Given the description of an element on the screen output the (x, y) to click on. 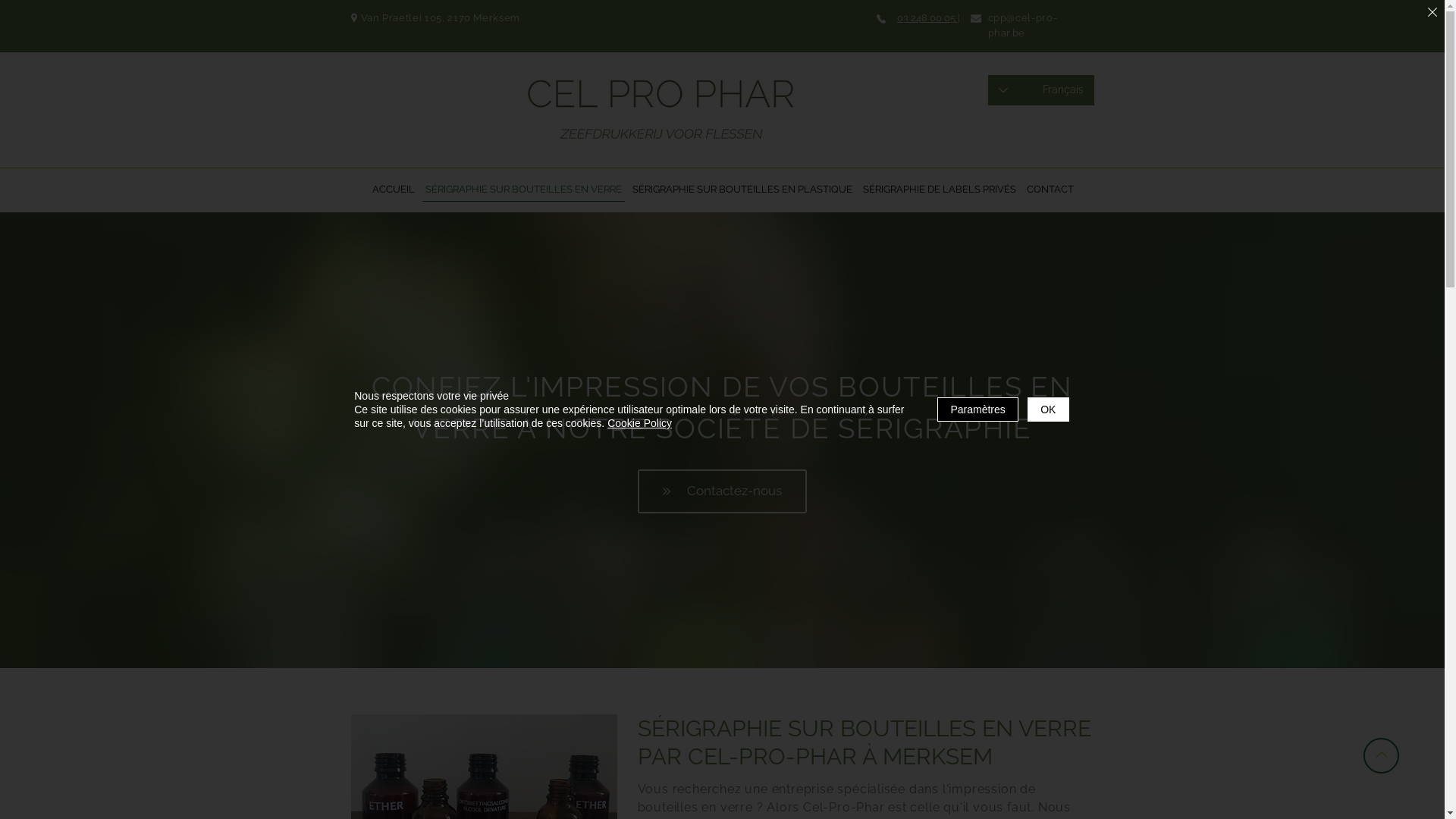
03 248 00 05 | Element type: text (928, 17)
Cookie Policy Element type: text (639, 423)
OK Element type: text (1048, 409)
ACCUEIL Element type: text (393, 189)
cpp@cel-pro-phar.be Element type: text (1022, 25)
CONTACT Element type: text (1049, 189)
Contactez-nous Element type: text (721, 490)
